Given the description of an element on the screen output the (x, y) to click on. 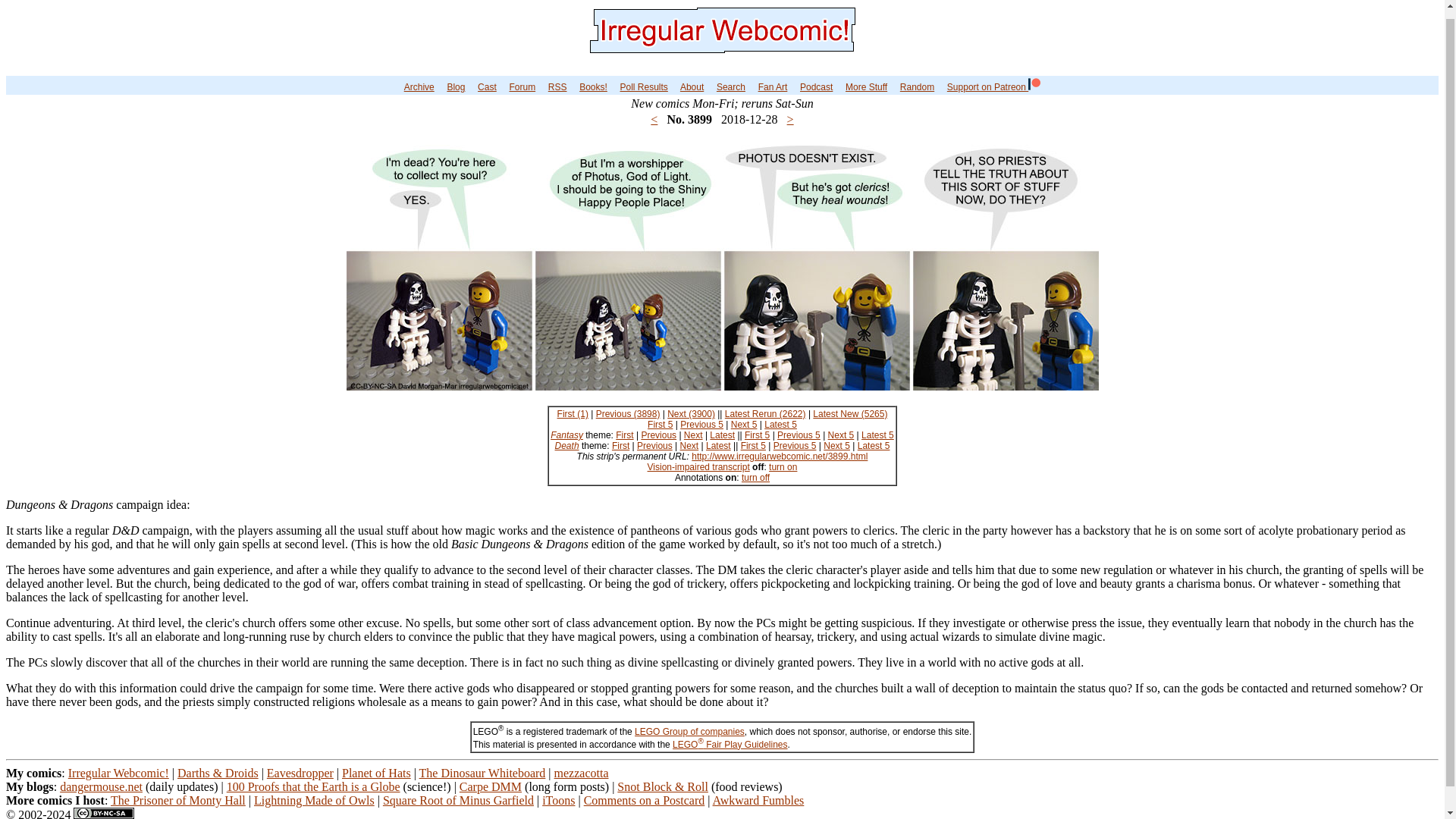
Next (693, 434)
Search (730, 86)
Latest 5 (877, 434)
Latest 5 (780, 424)
Support on Patreon (994, 86)
Previous 5 (701, 424)
Fan Art (772, 86)
Books! (593, 86)
Next 5 (841, 434)
First 5 (659, 424)
